Given the description of an element on the screen output the (x, y) to click on. 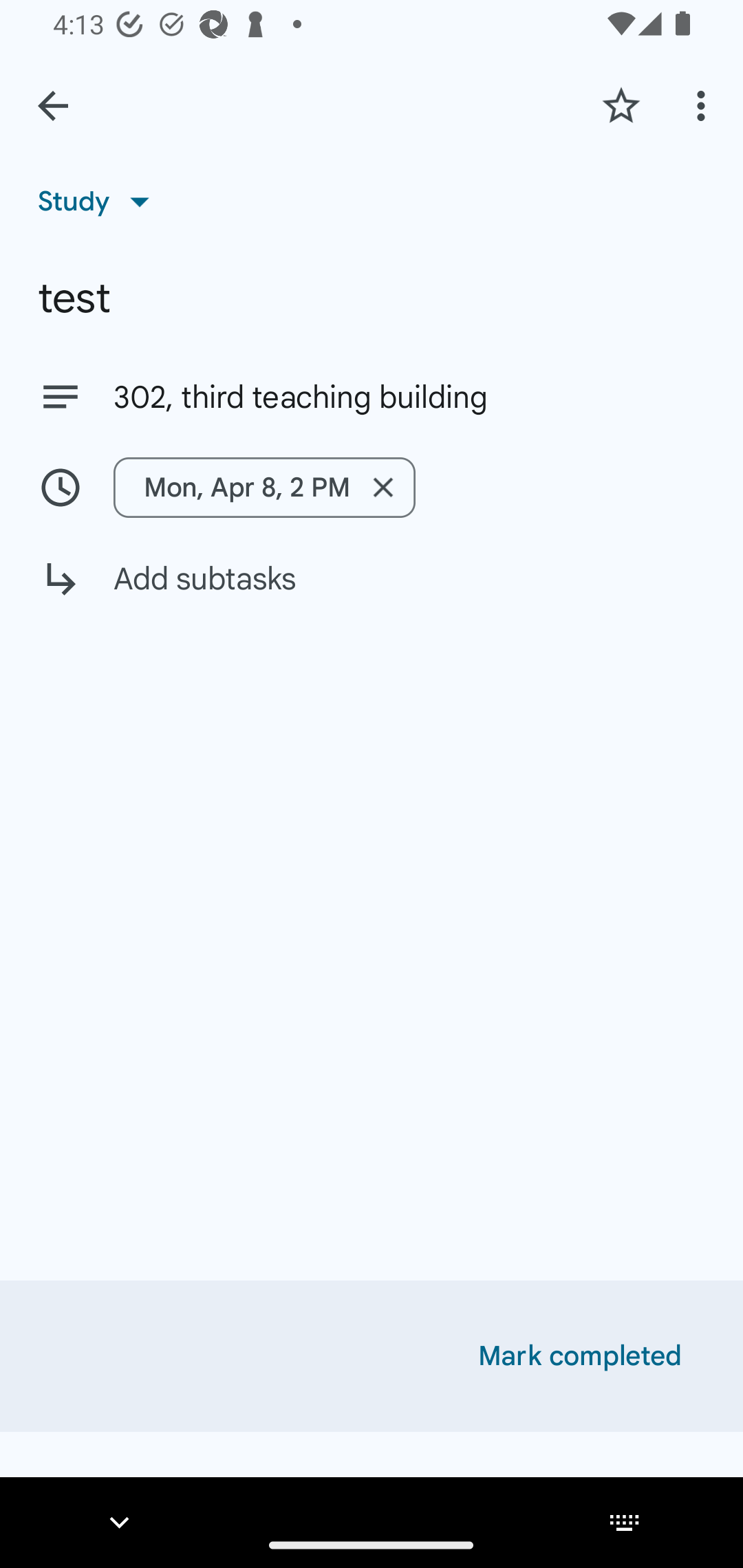
Back (53, 105)
Add star (620, 105)
More options (704, 105)
Study List, Study selected, 1 of 23 (99, 201)
test (371, 298)
302, third teaching building (371, 396)
302, third teaching building (409, 397)
Mon, Apr 8, 2 PM Remove date/time (371, 487)
Mon, Apr 8, 2 PM Remove date/time (264, 487)
Add subtasks (371, 593)
Mark completed (580, 1355)
